Given the description of an element on the screen output the (x, y) to click on. 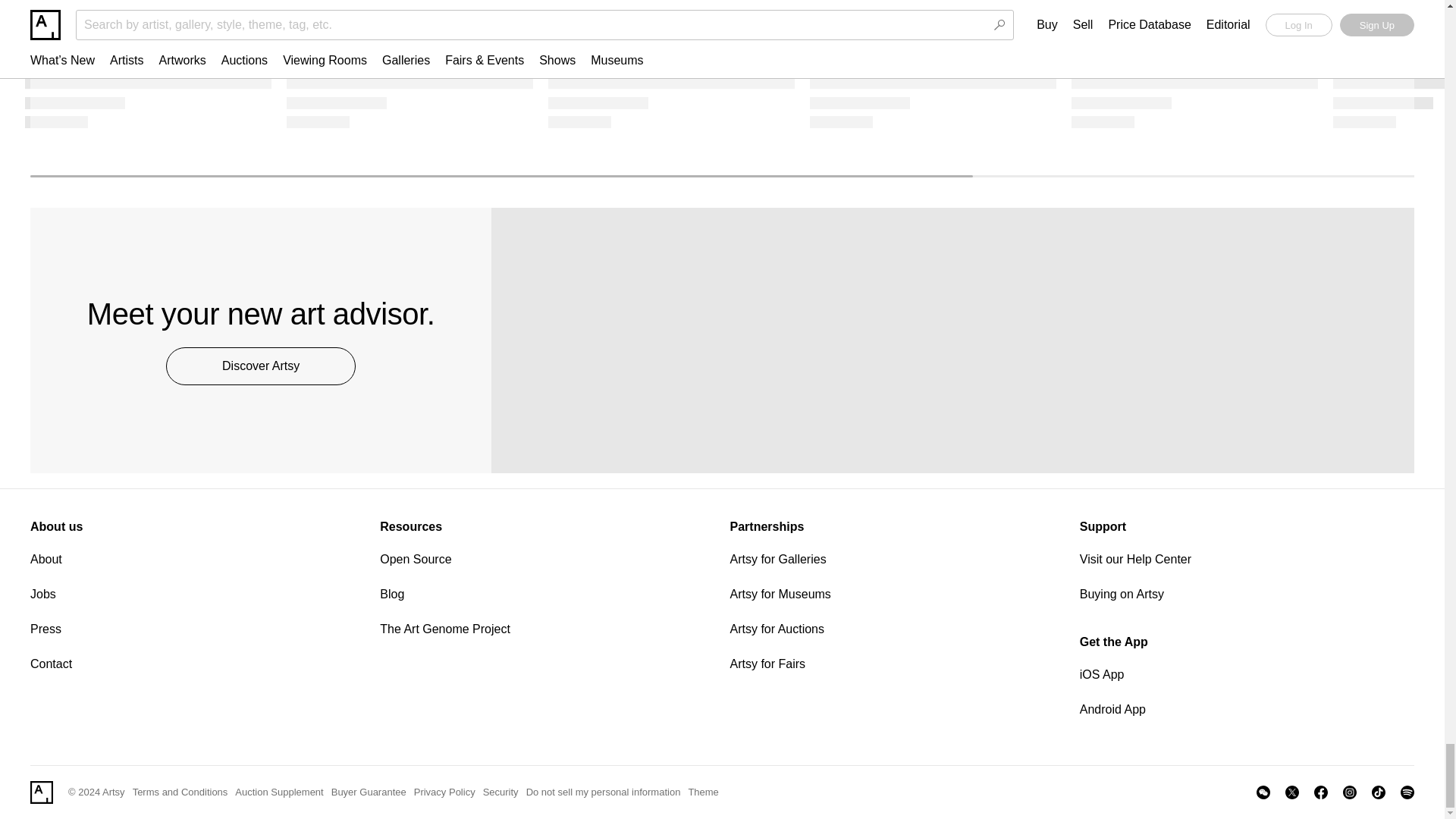
Jobs (197, 594)
About (197, 559)
Artsy (41, 792)
Discover Artsy (260, 365)
